Given the description of an element on the screen output the (x, y) to click on. 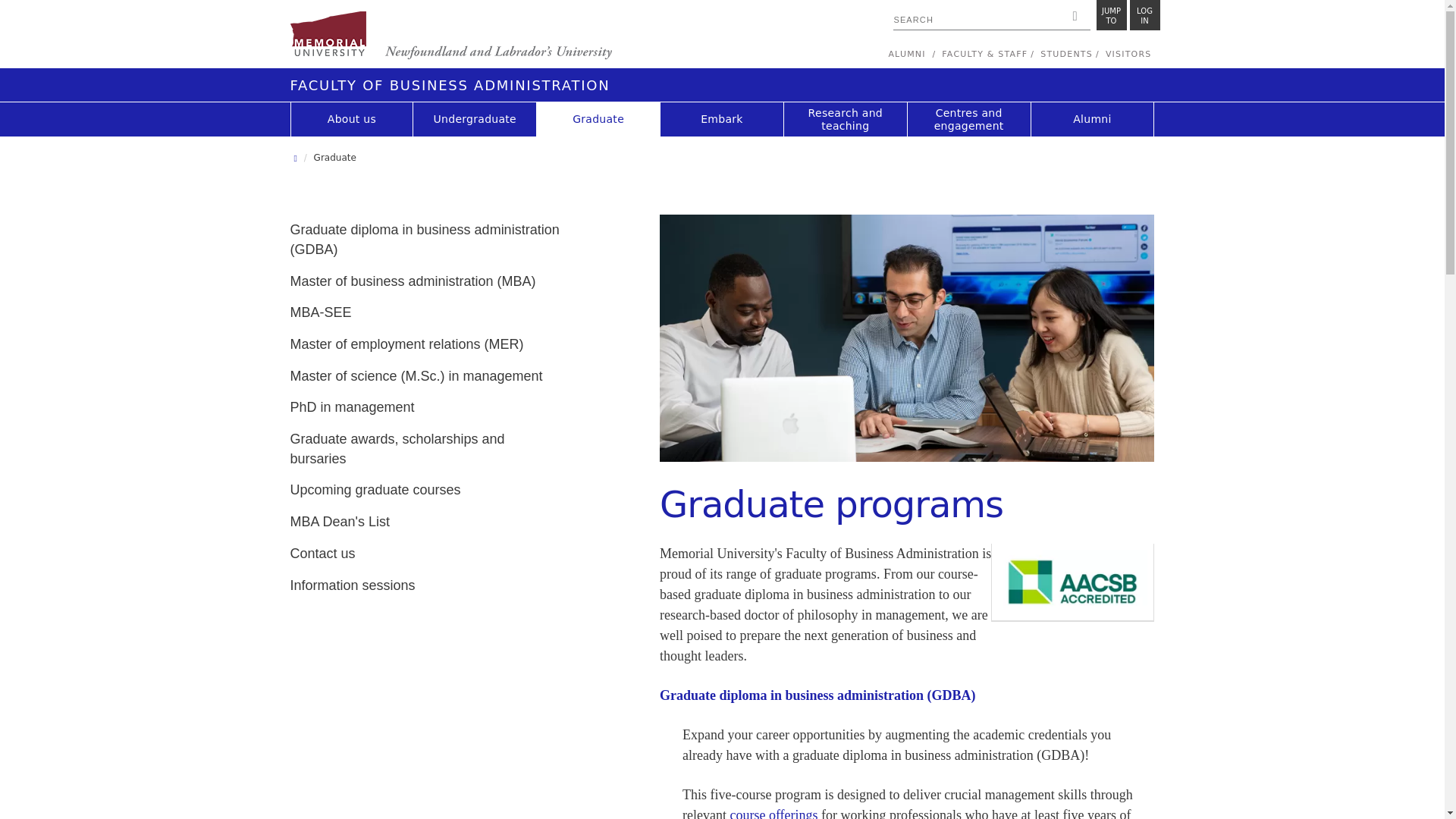
JUMP TO (1111, 15)
Memorial University of Newfoundland (450, 35)
Memorial University (1144, 15)
